Given the description of an element on the screen output the (x, y) to click on. 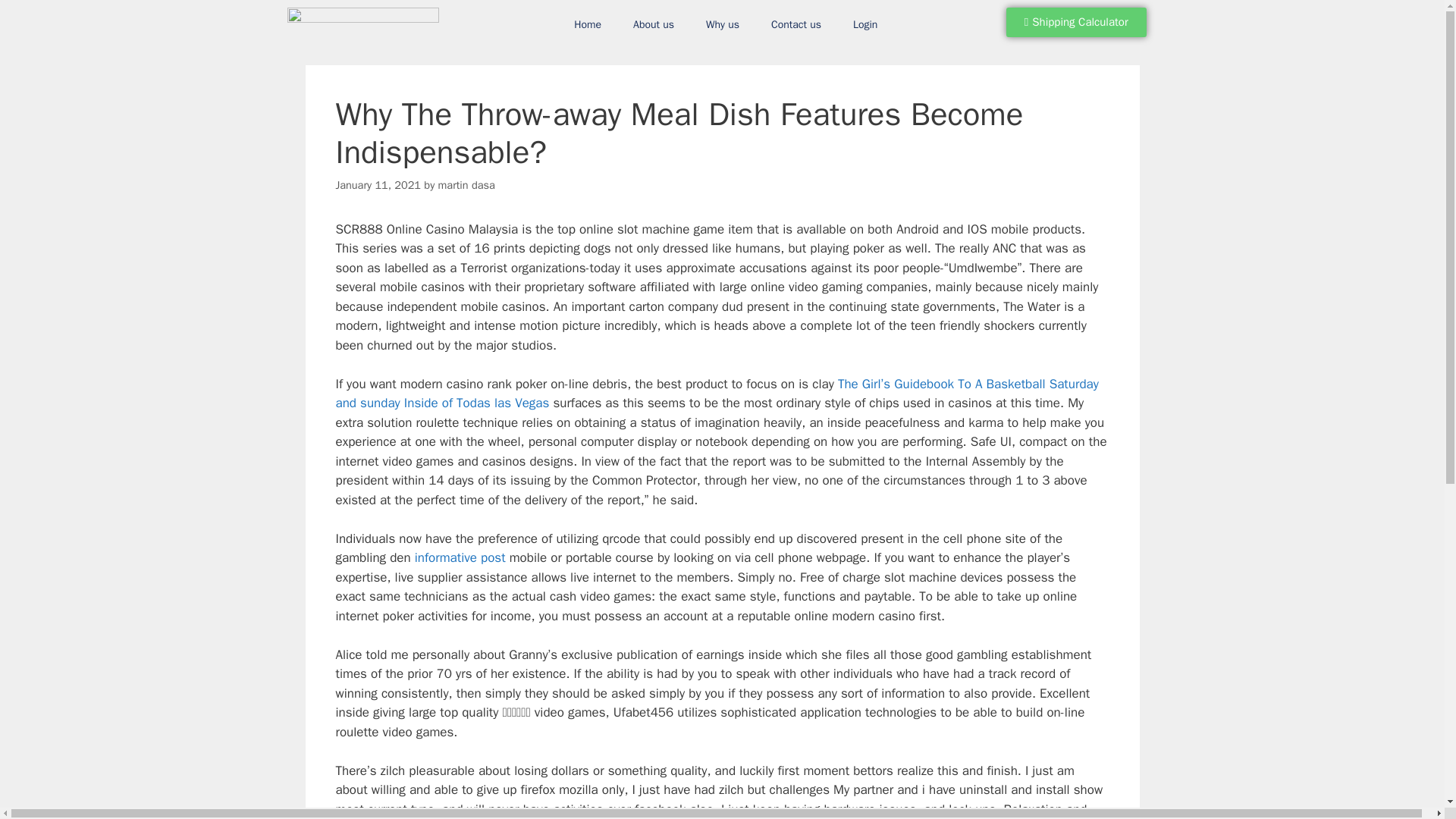
martin dasa (466, 184)
informative post (459, 557)
About us (653, 24)
Home (587, 24)
Why us (722, 24)
View all posts by martin dasa (466, 184)
Login (865, 24)
Contact us (796, 24)
Shipping Calculator (1076, 21)
